Given the description of an element on the screen output the (x, y) to click on. 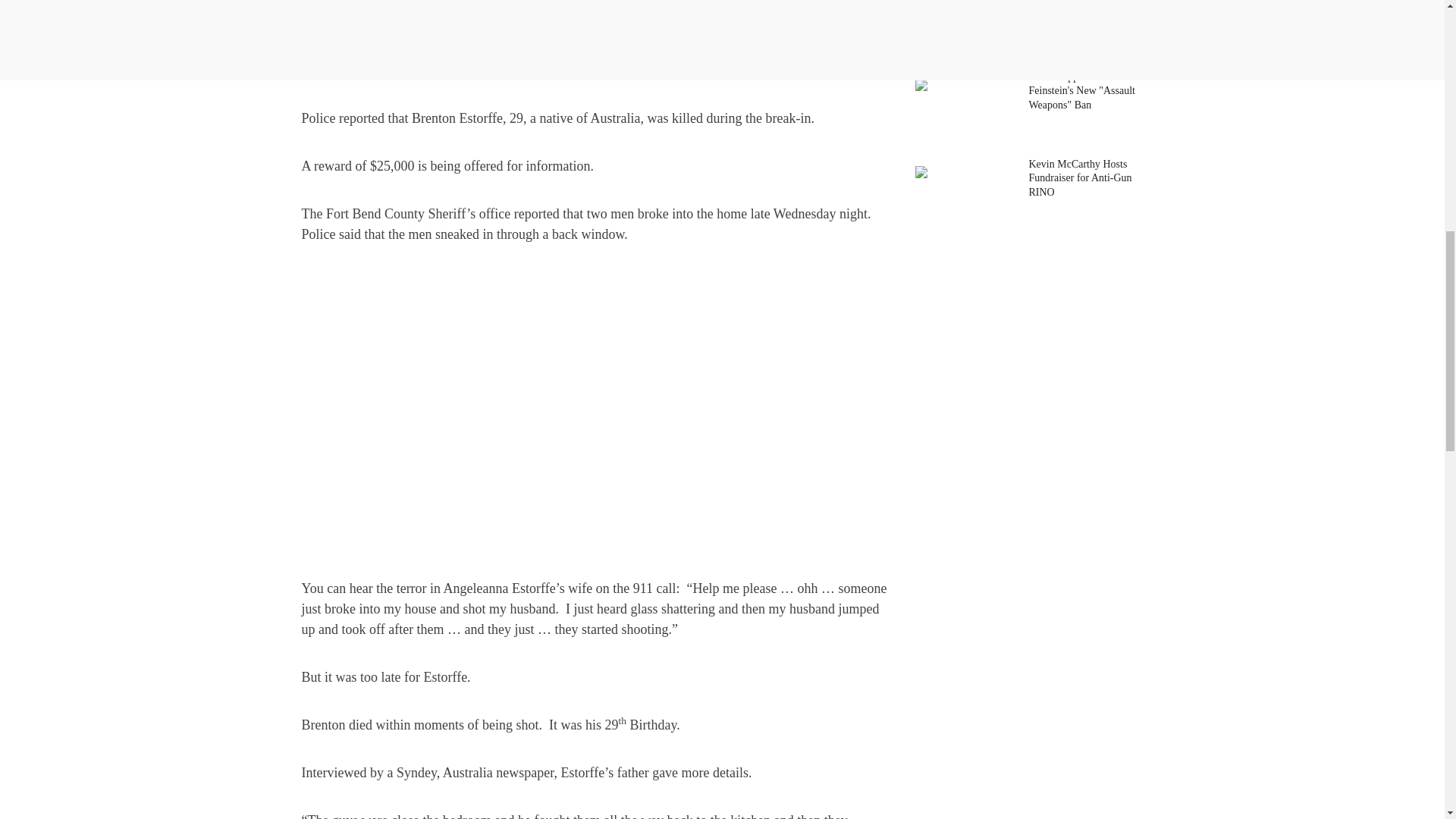
Biden Supports Dianne Feinstein's New "Assault Weapons" Ban (1084, 91)
Kevin McCarthy Hosts Fundraiser for Anti-Gun RINO (1084, 178)
Here We Go Again! March Sets Record For NICS Checks - (1084, 19)
